Given the description of an element on the screen output the (x, y) to click on. 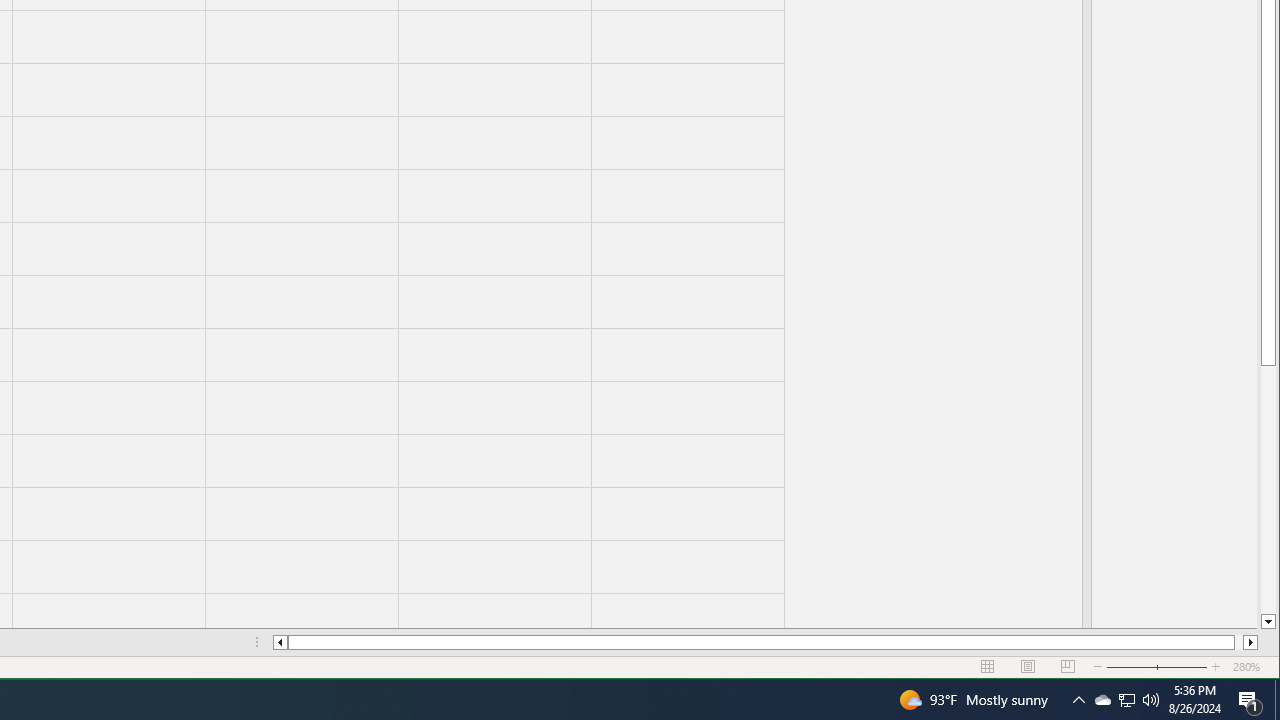
Page right (1238, 642)
Notification Chevron (1078, 699)
